Given the description of an element on the screen output the (x, y) to click on. 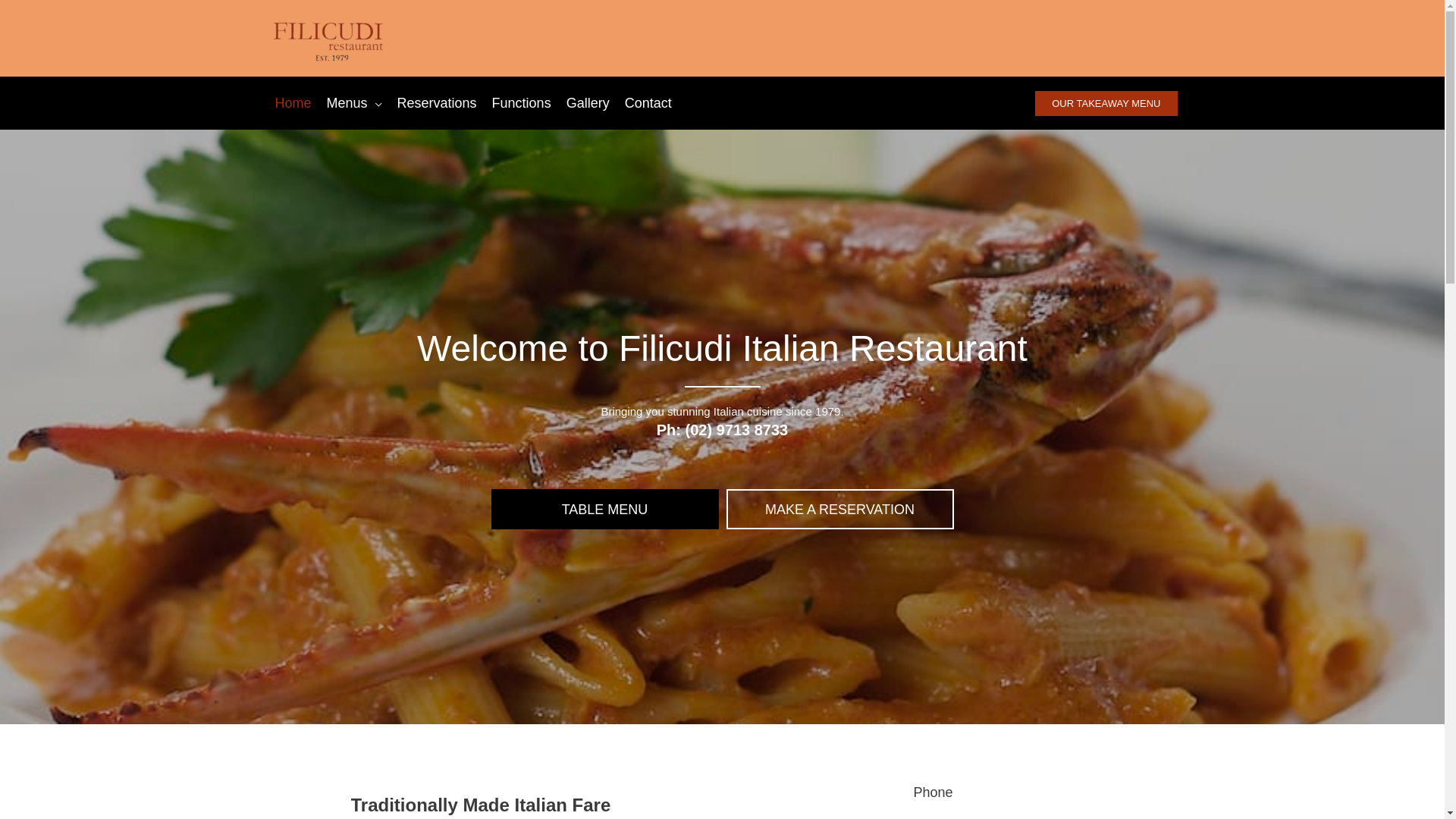
Home Element type: text (292, 102)
Contact Element type: text (648, 102)
Menus Element type: text (354, 102)
Gallery Element type: text (587, 102)
MAKE A RESERVATION Element type: text (839, 509)
Reservations Element type: text (436, 102)
TABLE MENU Element type: text (604, 509)
Functions Element type: text (521, 102)
OUR TAKEAWAY MENU Element type: text (1105, 103)
